Given the description of an element on the screen output the (x, y) to click on. 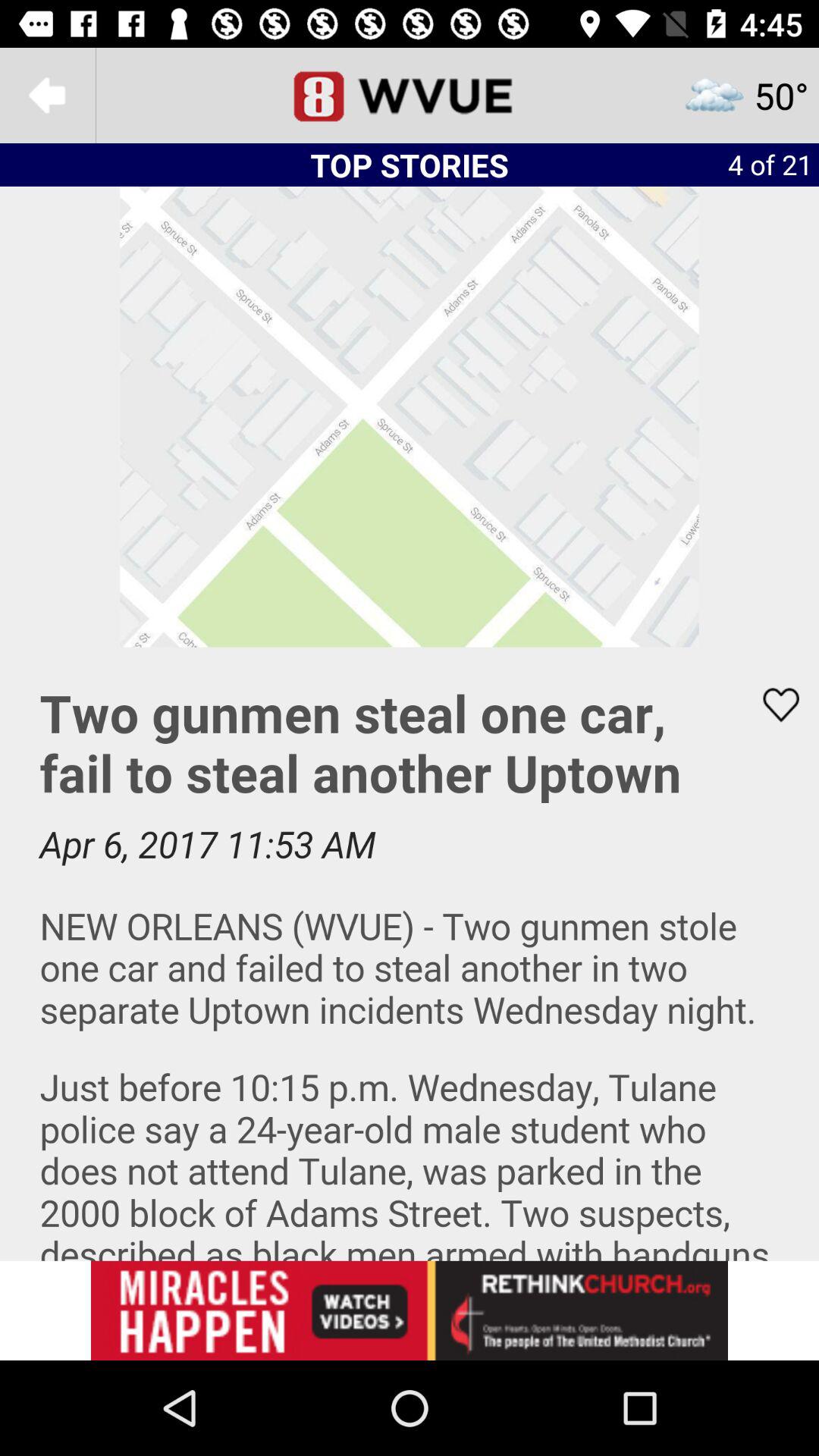
click on advertisement (409, 1310)
